Given the description of an element on the screen output the (x, y) to click on. 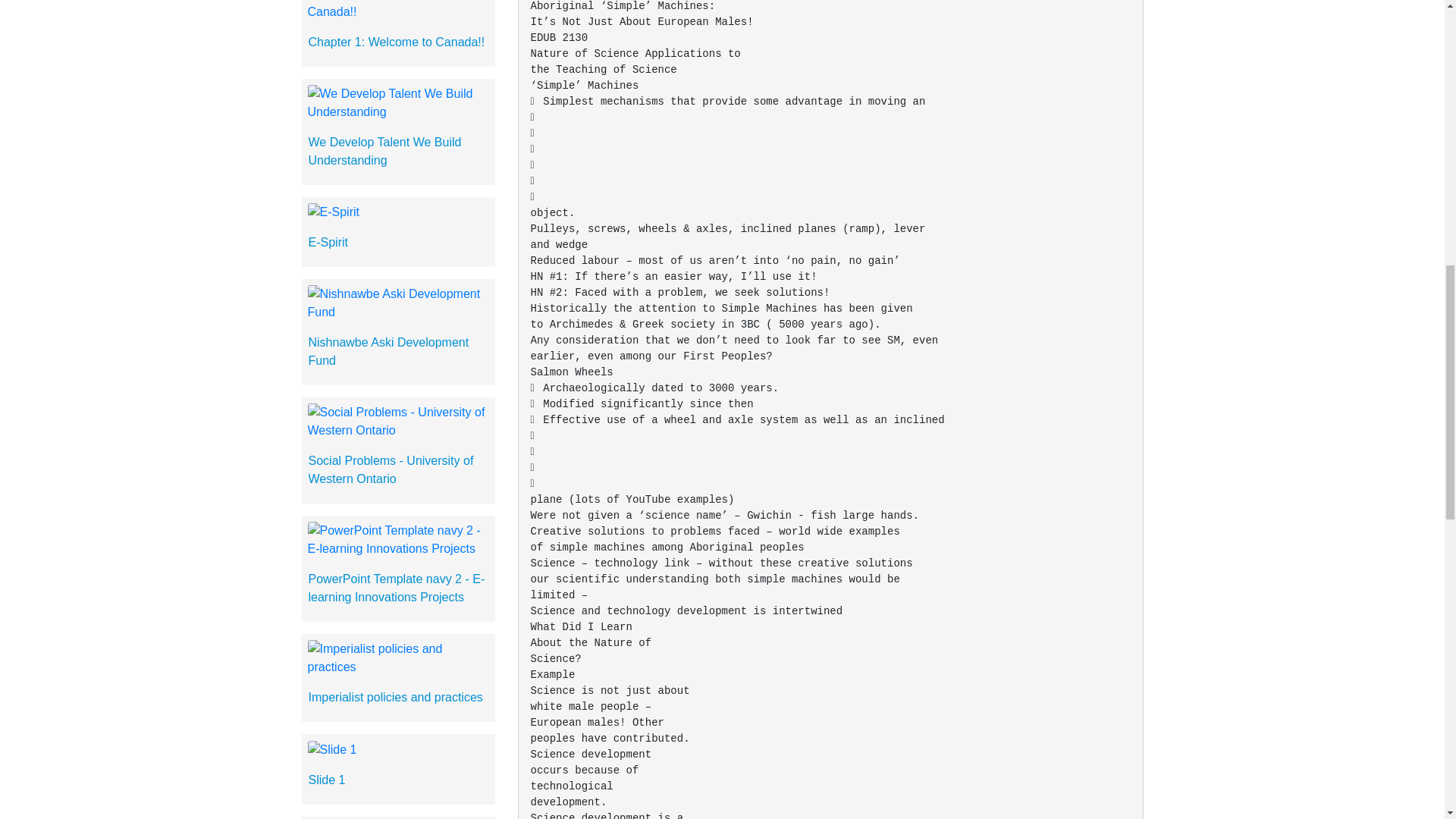
PowerPoint Template navy 2 - E-learning Innovations Projects (395, 587)
E-Spirit (327, 241)
Imperialist policies and practices (394, 697)
Nishnawbe Aski Development Fund (387, 350)
Social Problems - University of Western Ontario (390, 469)
Chapter 1: Welcome to Canada!! (395, 42)
Slide 1 (326, 779)
We Develop Talent We Build Understanding (384, 151)
